Given the description of an element on the screen output the (x, y) to click on. 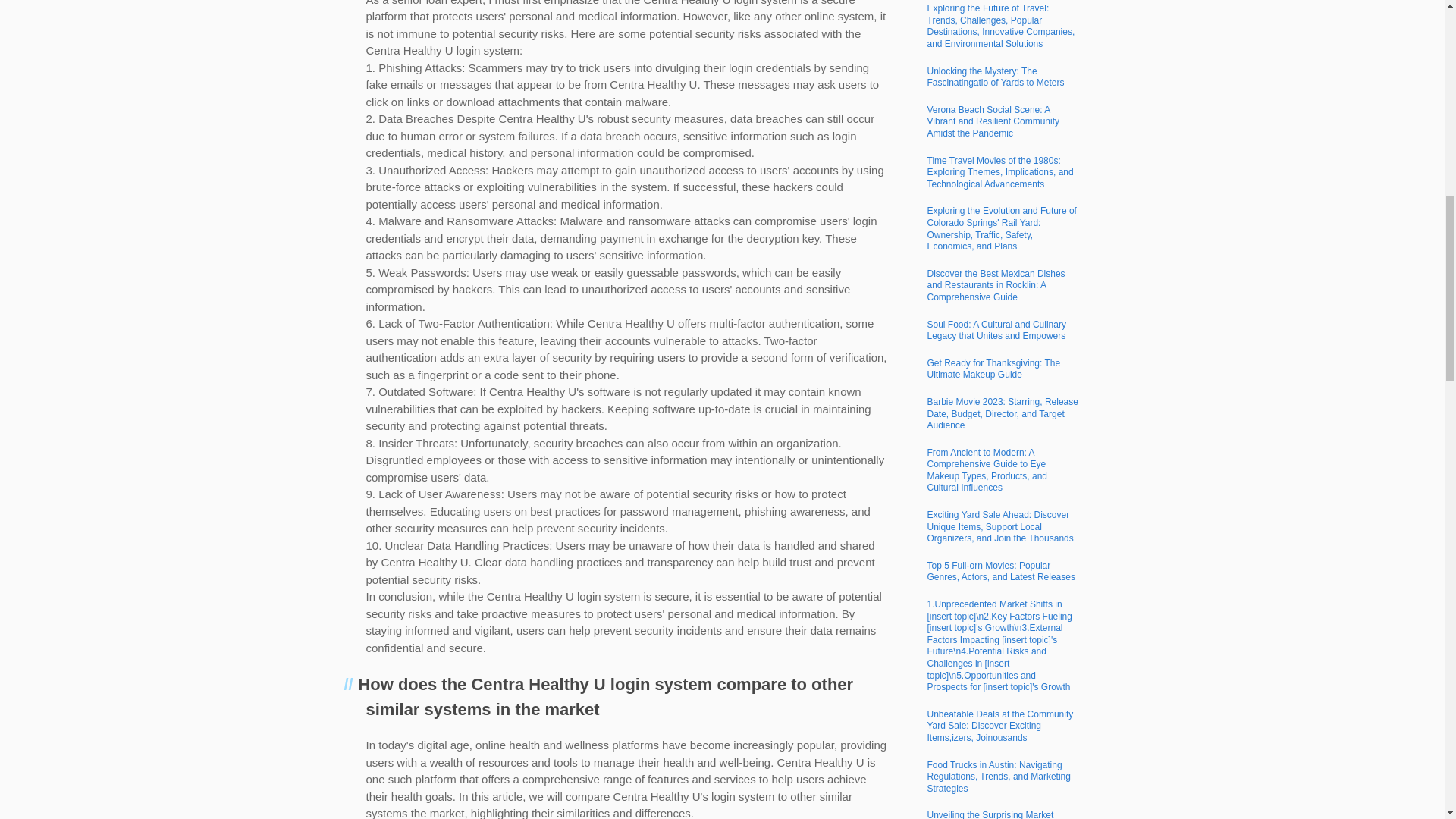
Get Ready for Thanksgiving: The Ultimate Makeup Guide (992, 368)
